Given the description of an element on the screen output the (x, y) to click on. 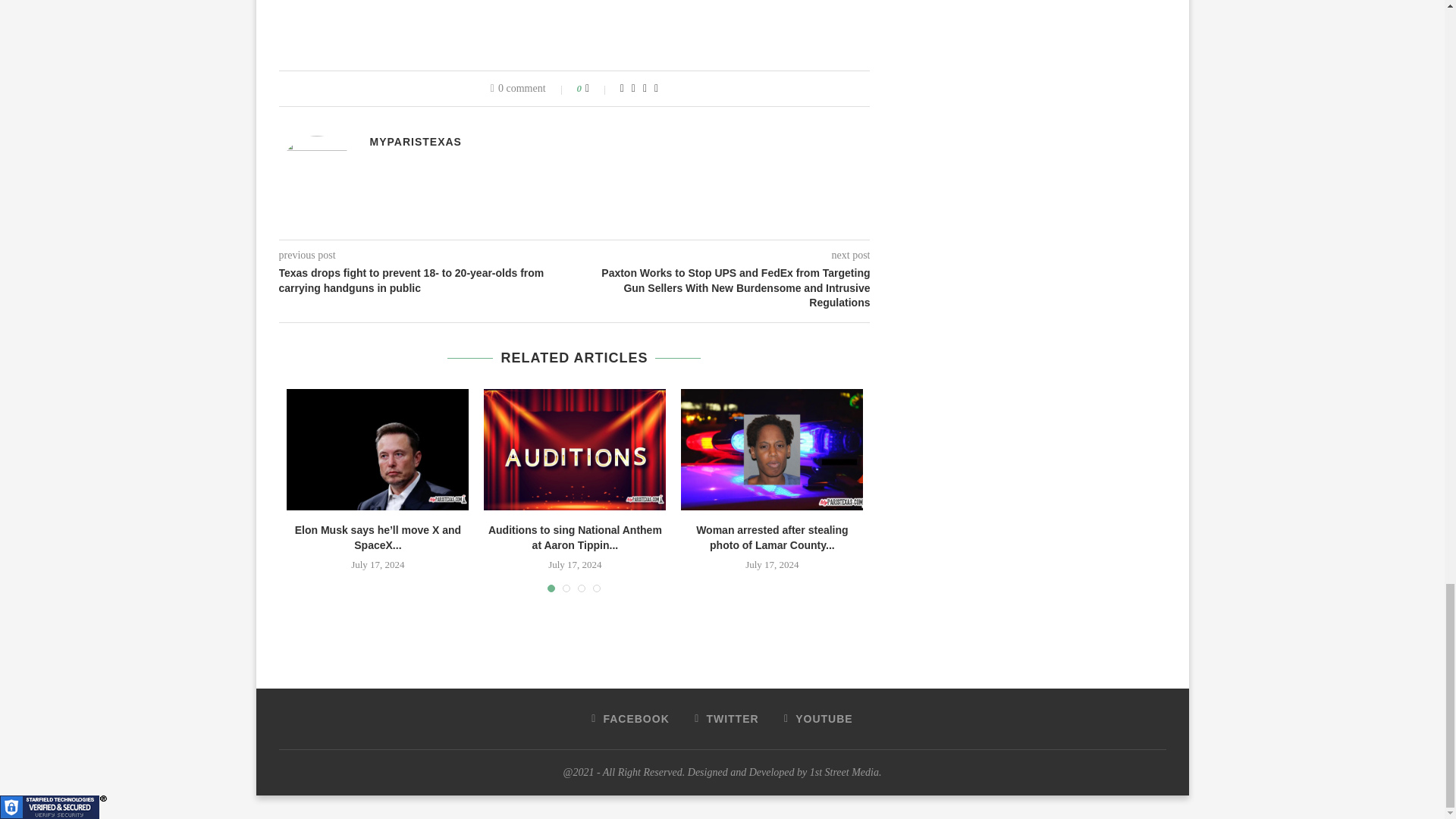
Like (597, 88)
Posts by MyParisTexas (415, 141)
